Given the description of an element on the screen output the (x, y) to click on. 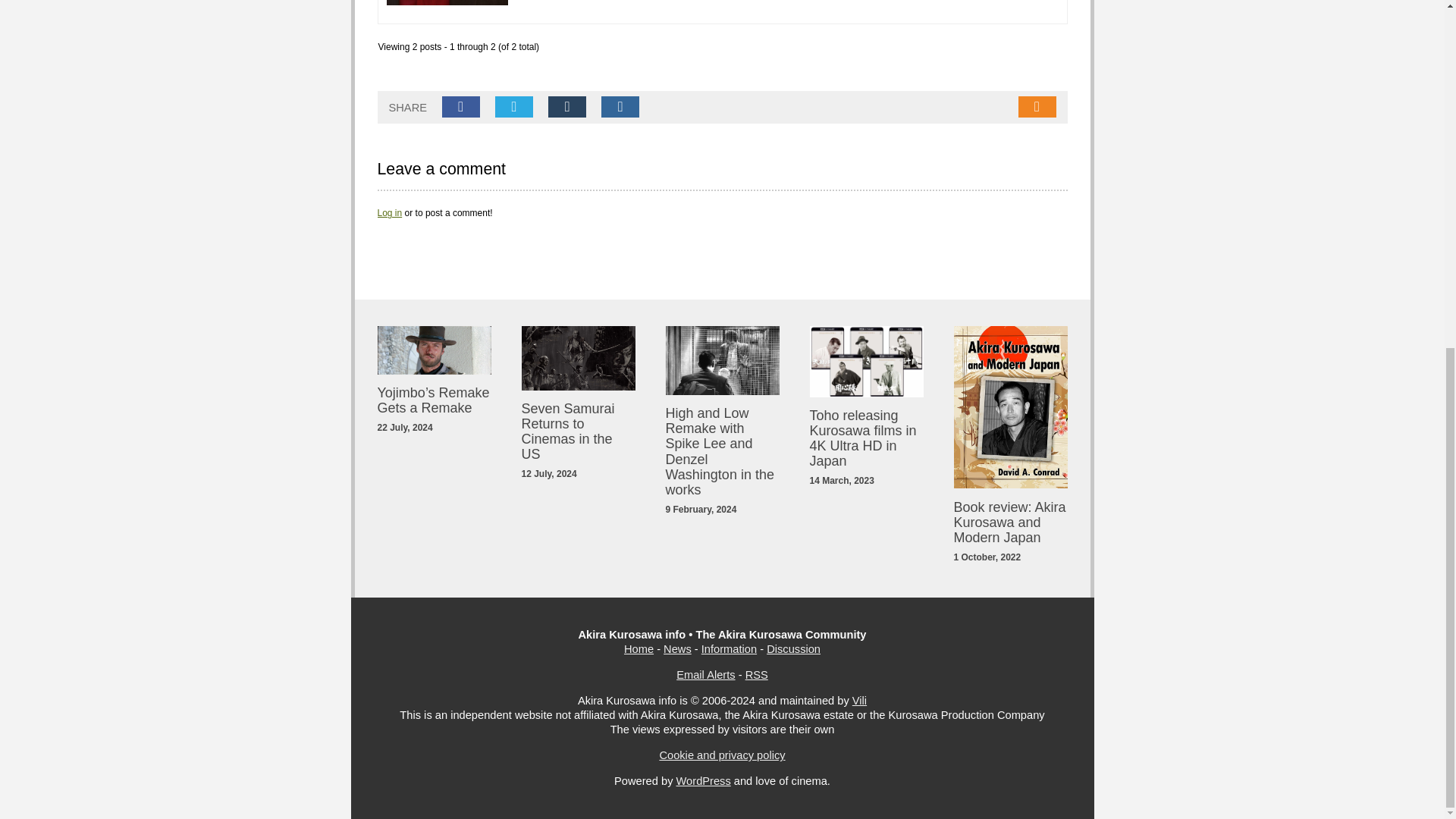
Share on Facebook (461, 106)
Vili (858, 700)
Discussion (794, 648)
News (677, 648)
WordPress (703, 780)
Share on Tumblr (567, 106)
Seven Samurai Returns to Cinemas in the US (567, 431)
Share on reddit (620, 106)
Cookie and privacy policy (721, 755)
RSS for the discussion (1036, 106)
